Given the description of an element on the screen output the (x, y) to click on. 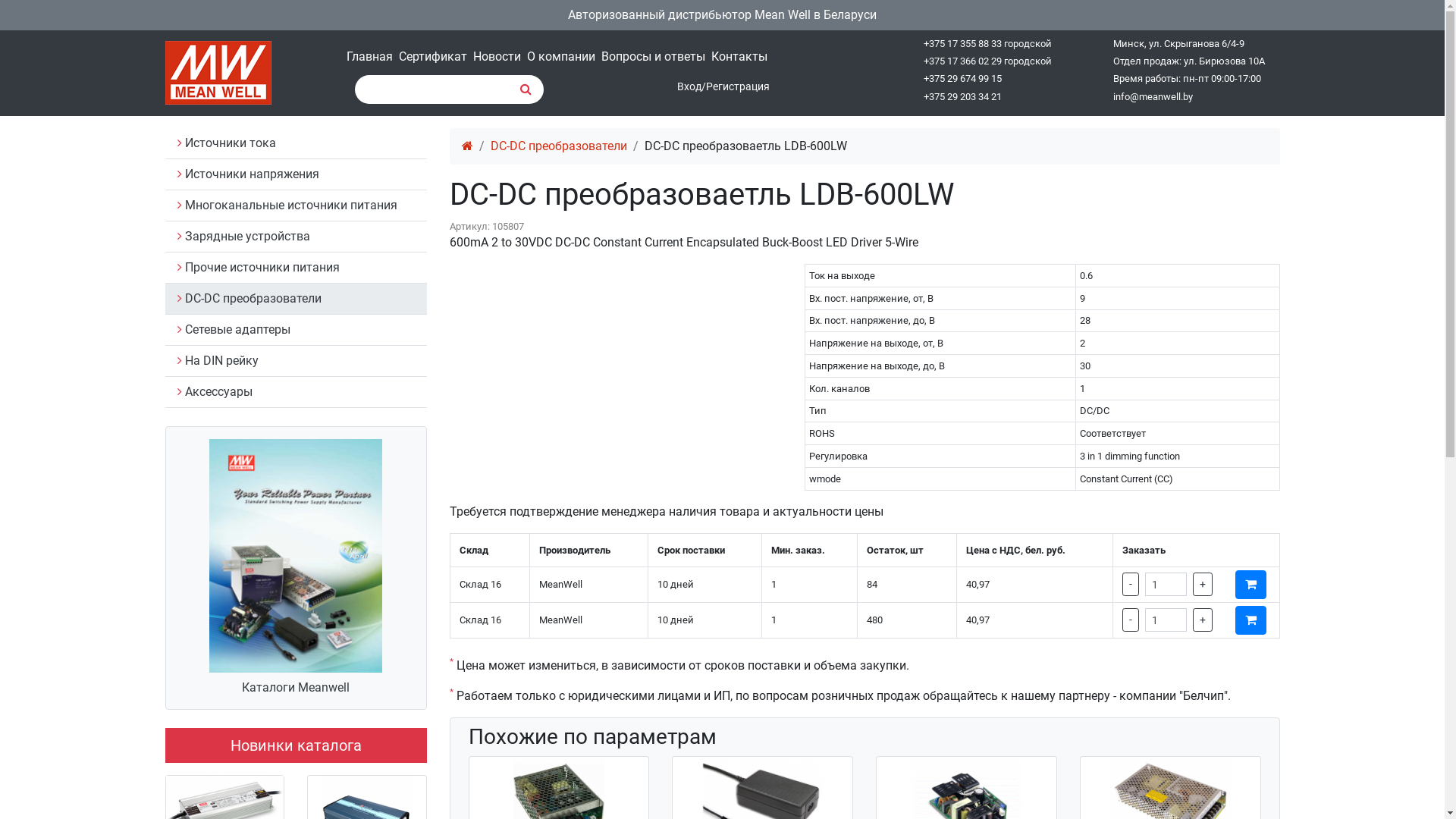
- Element type: text (1130, 584)
+ Element type: text (1202, 619)
- Element type: text (1130, 619)
+375 17 366 02 29 Element type: text (962, 60)
+375 29 674 99 15 Element type: text (962, 78)
+ Element type: text (1202, 584)
+375 29 203 34 21 Element type: text (962, 96)
+375 17 355 88 33 Element type: text (962, 43)
info@meanwell.by Element type: text (1152, 96)
